Given the description of an element on the screen output the (x, y) to click on. 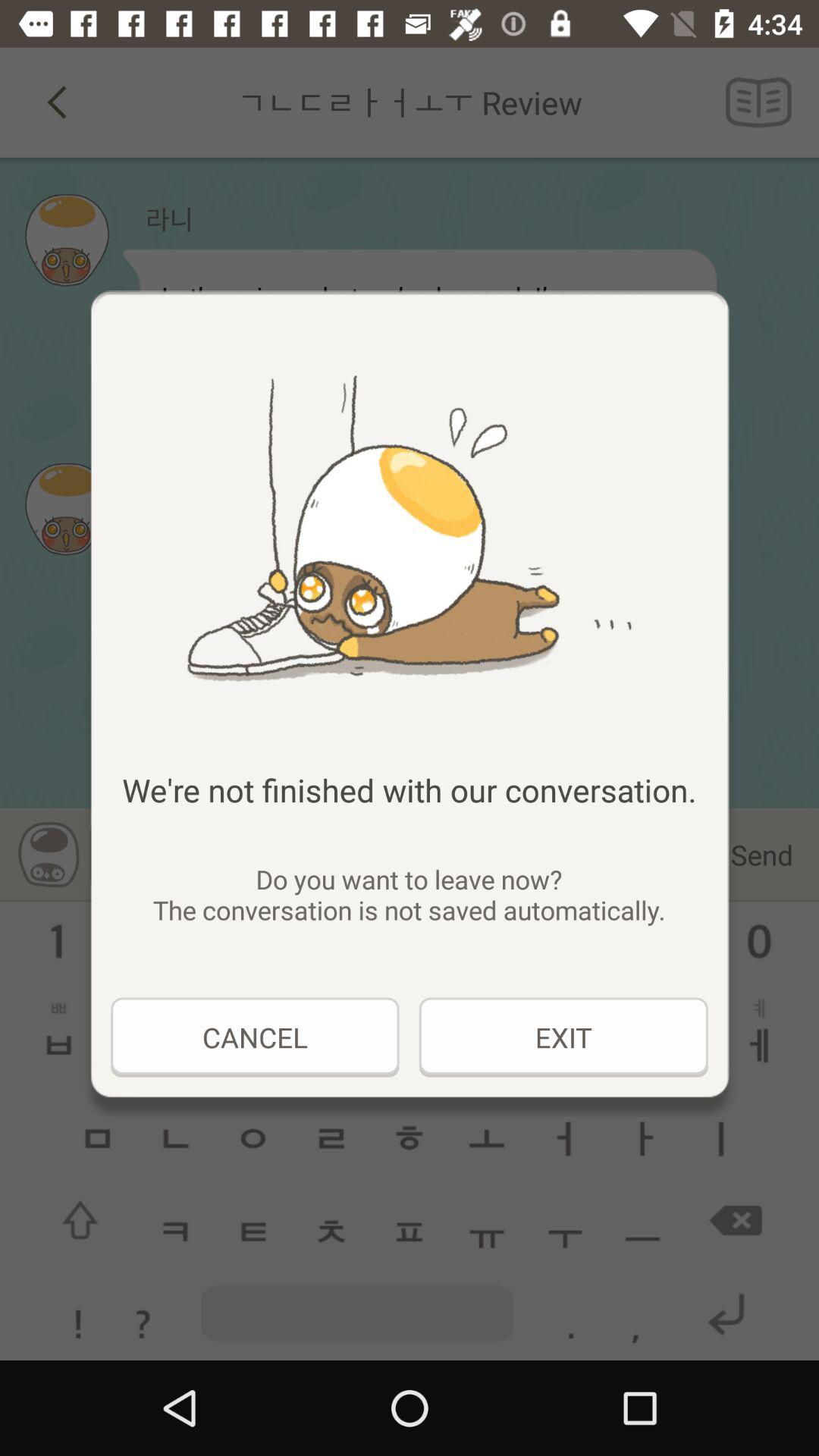
jump to the exit item (563, 1037)
